Given the description of an element on the screen output the (x, y) to click on. 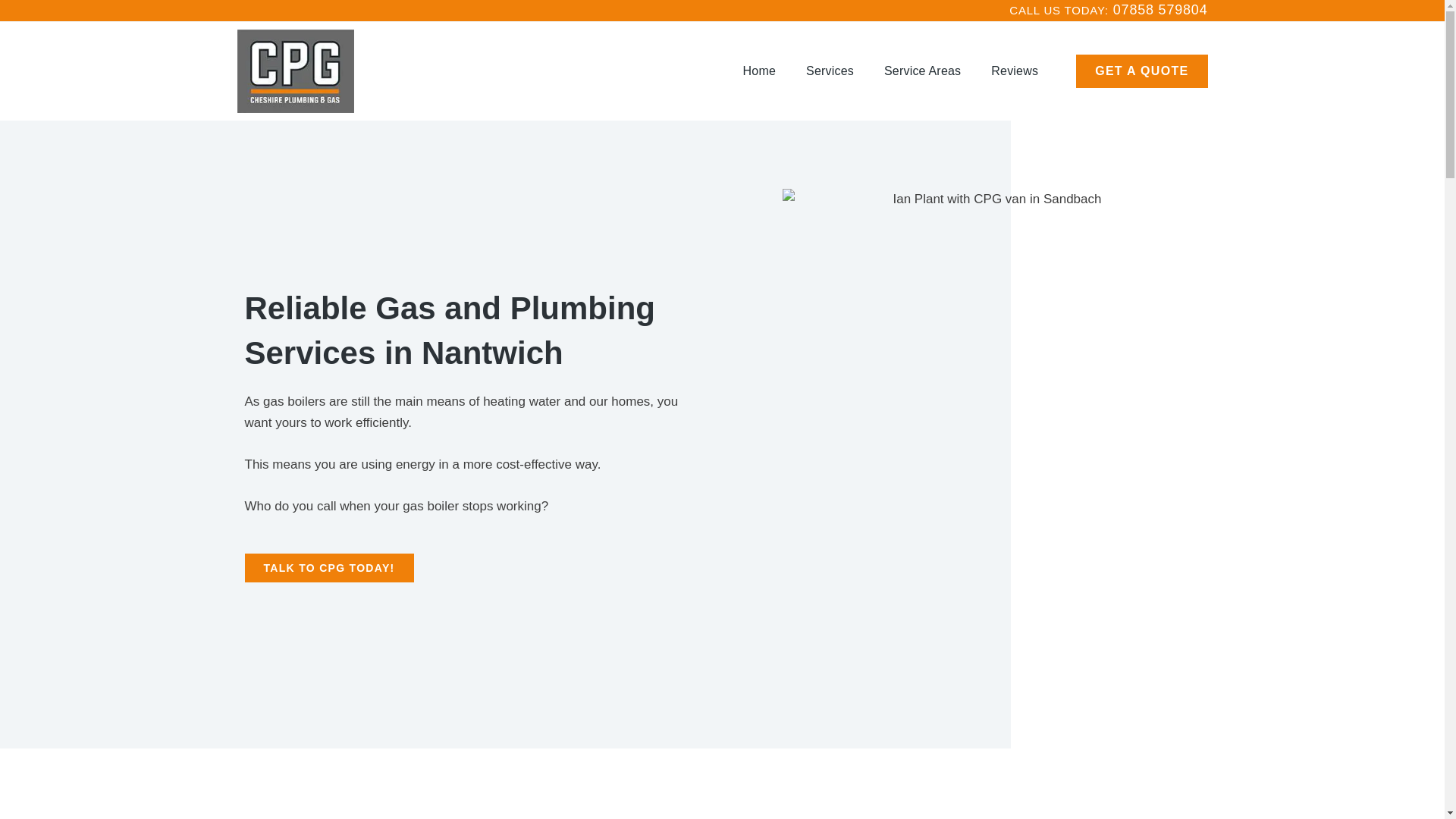
Service Areas (921, 70)
Reviews (1014, 70)
Home (759, 70)
CALL US TODAY: 07858 579804 (1108, 9)
Services (829, 70)
GET A QUOTE (1141, 70)
TALK TO CPG TODAY! (328, 567)
